Given the description of an element on the screen output the (x, y) to click on. 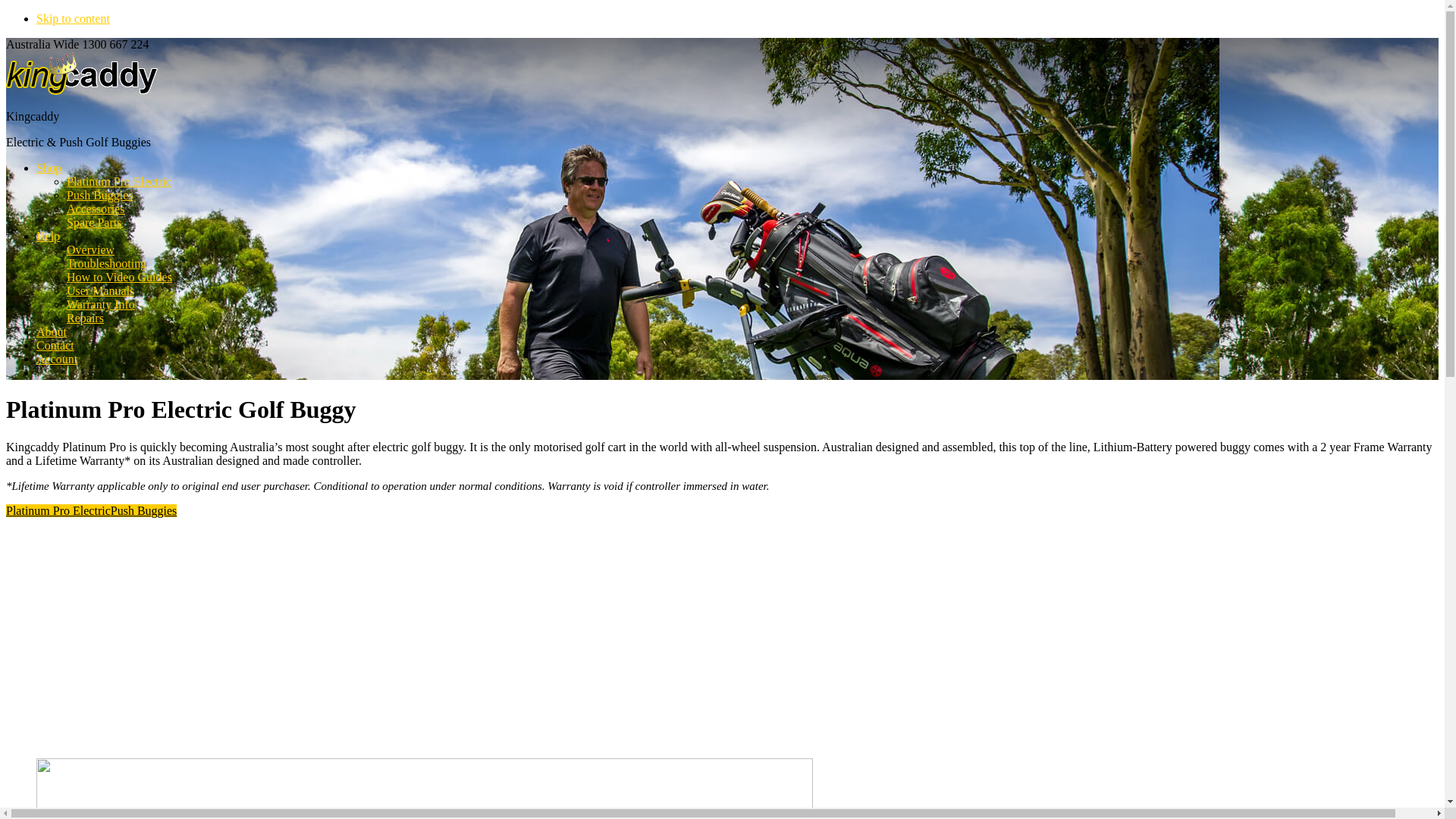
Contact Element type: text (55, 344)
Shop Element type: text (48, 167)
Platinum Pro Electric Element type: text (118, 181)
Push Buggies Element type: text (99, 194)
How to Video Guides Element type: text (119, 276)
Repairs Element type: text (84, 317)
Overview Element type: text (90, 249)
Accessories Element type: text (95, 208)
About Element type: text (51, 331)
User Manuals Element type: text (100, 290)
Help Element type: text (47, 235)
Spare Parts Element type: text (93, 222)
Troubleshooting Element type: text (106, 263)
Account Element type: text (56, 358)
Skip to content Element type: text (72, 18)
Platinum Pro Electric Element type: text (58, 510)
Warranty Info Element type: text (100, 304)
Push Buggies Element type: text (143, 510)
